Given the description of an element on the screen output the (x, y) to click on. 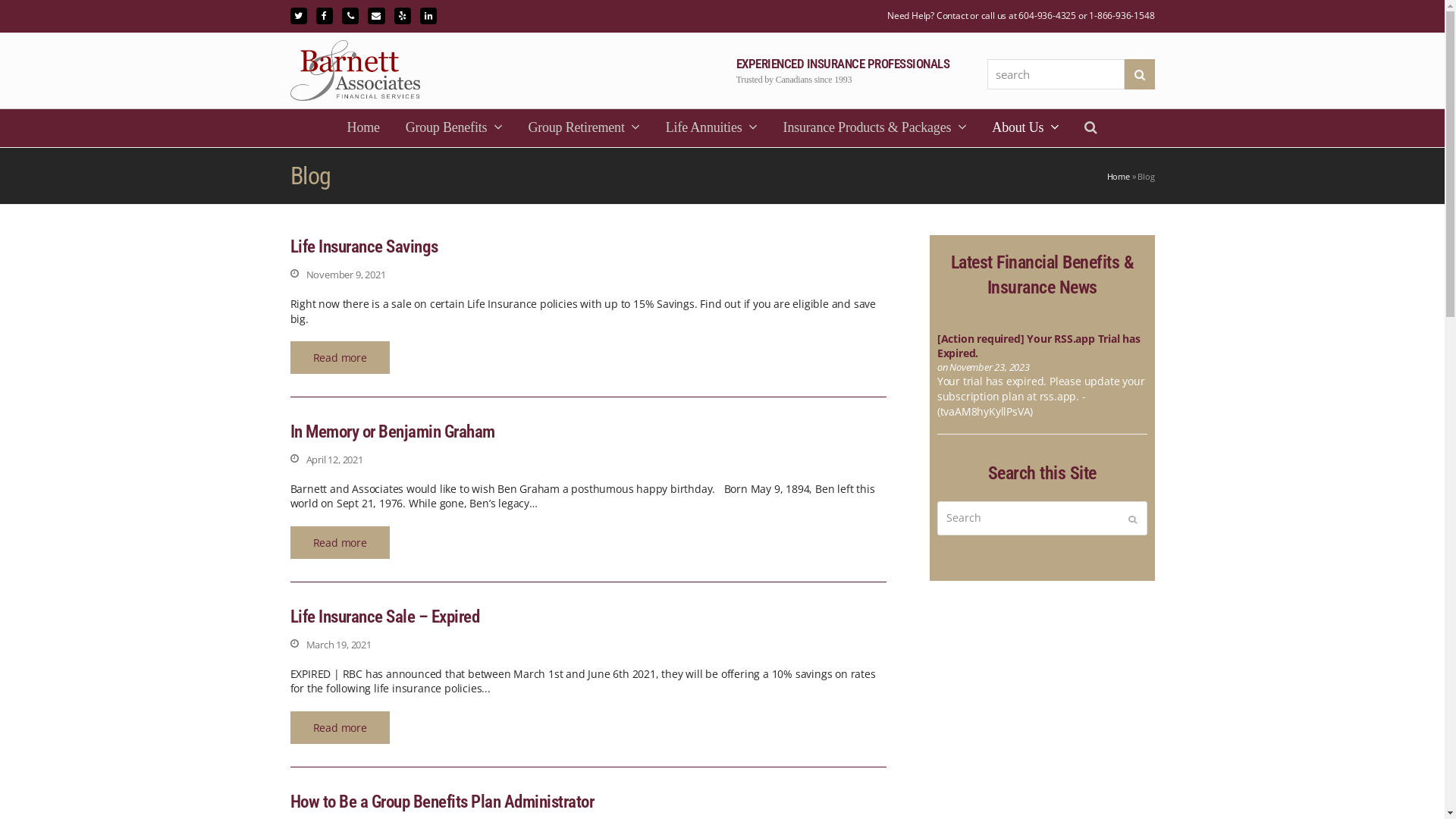
Facebook Element type: text (324, 15)
[Action required] Your RSS.app Trial has Expired. Element type: text (1038, 345)
Home Element type: text (1118, 176)
LinkedIn Element type: text (428, 15)
Read more Element type: text (339, 727)
Read more Element type: text (339, 357)
Contact Element type: text (952, 15)
Submit Element type: text (1132, 518)
Twitter Element type: text (297, 15)
Life Annuities Element type: text (711, 128)
1-866-936-1548 Element type: text (1121, 15)
Phone Element type: text (350, 15)
Group Benefits Element type: text (454, 128)
Insurance Products & Packages Element type: text (874, 128)
How to Be a Group Benefits Plan Administrator Element type: text (441, 801)
Home Element type: text (363, 128)
In Memory or Benjamin Graham Element type: text (391, 431)
604-936-4325 Element type: text (1047, 15)
Yelp Element type: text (402, 15)
About Us Element type: text (1025, 128)
Group Retirement Element type: text (583, 128)
Email Element type: text (375, 15)
Read more Element type: text (339, 542)
Life Insurance Savings Element type: text (363, 246)
Search Element type: text (1139, 73)
